Given the description of an element on the screen output the (x, y) to click on. 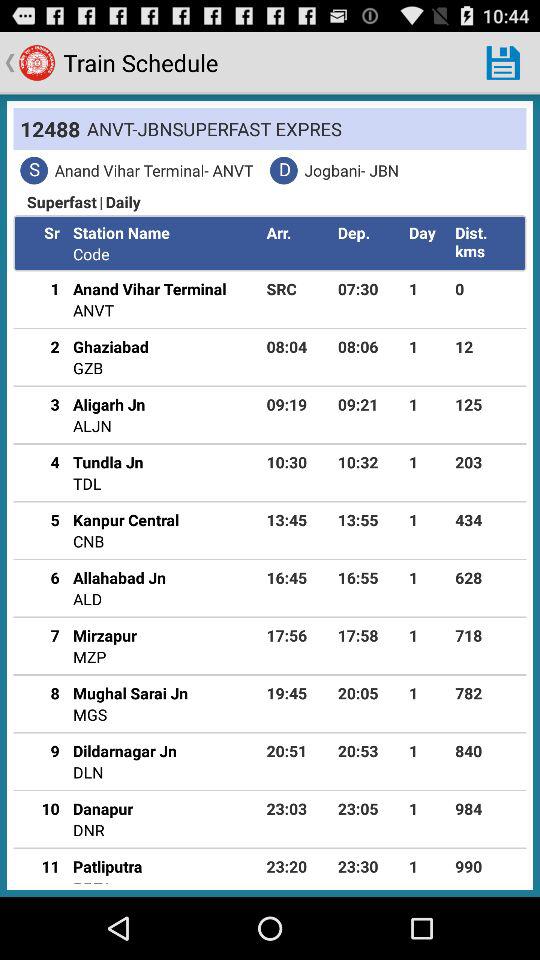
launch the icon to the left of the 10:30 app (87, 483)
